Given the description of an element on the screen output the (x, y) to click on. 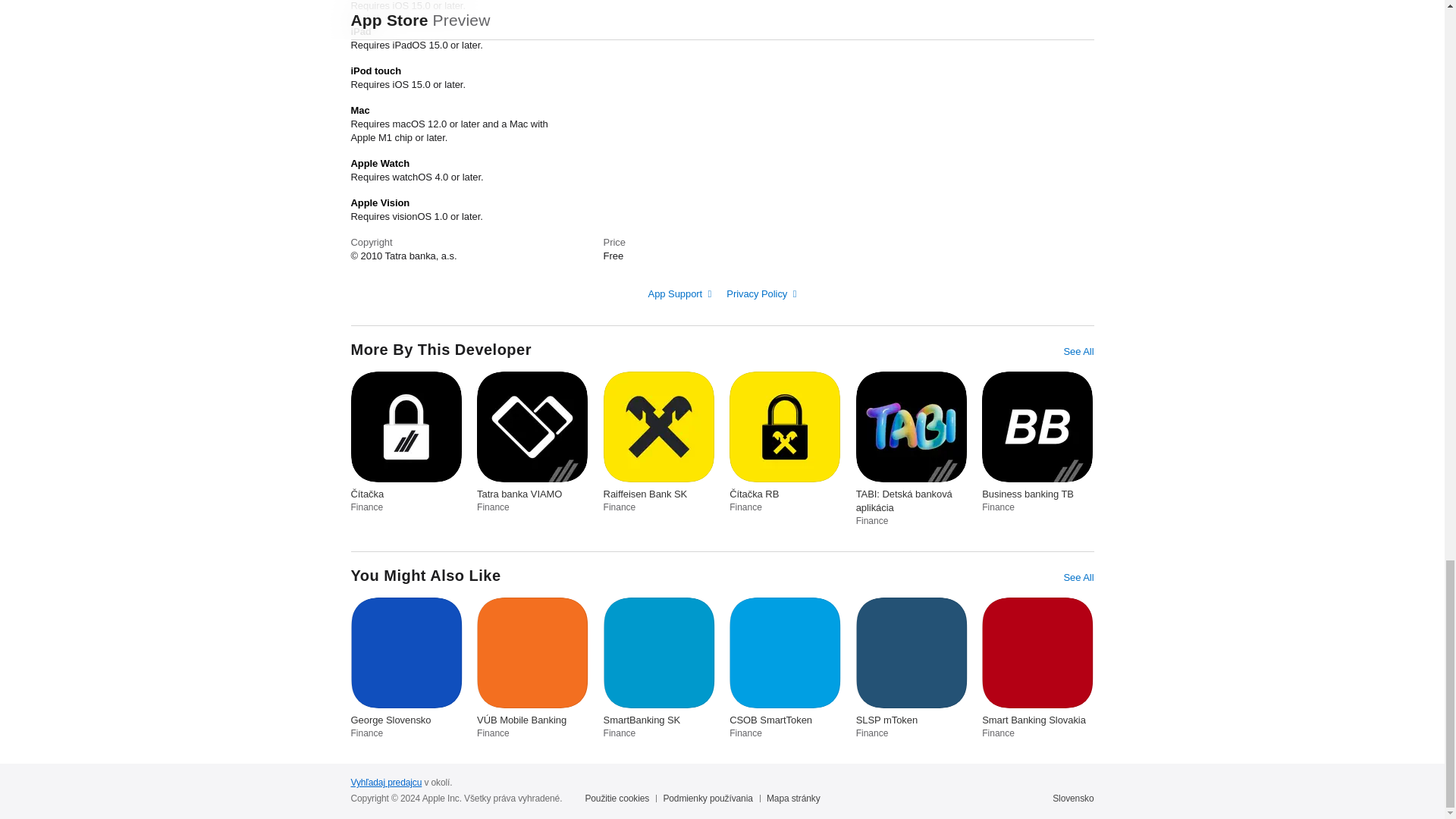
See All (1077, 351)
App Support (679, 293)
Privacy Policy (761, 293)
